Given the description of an element on the screen output the (x, y) to click on. 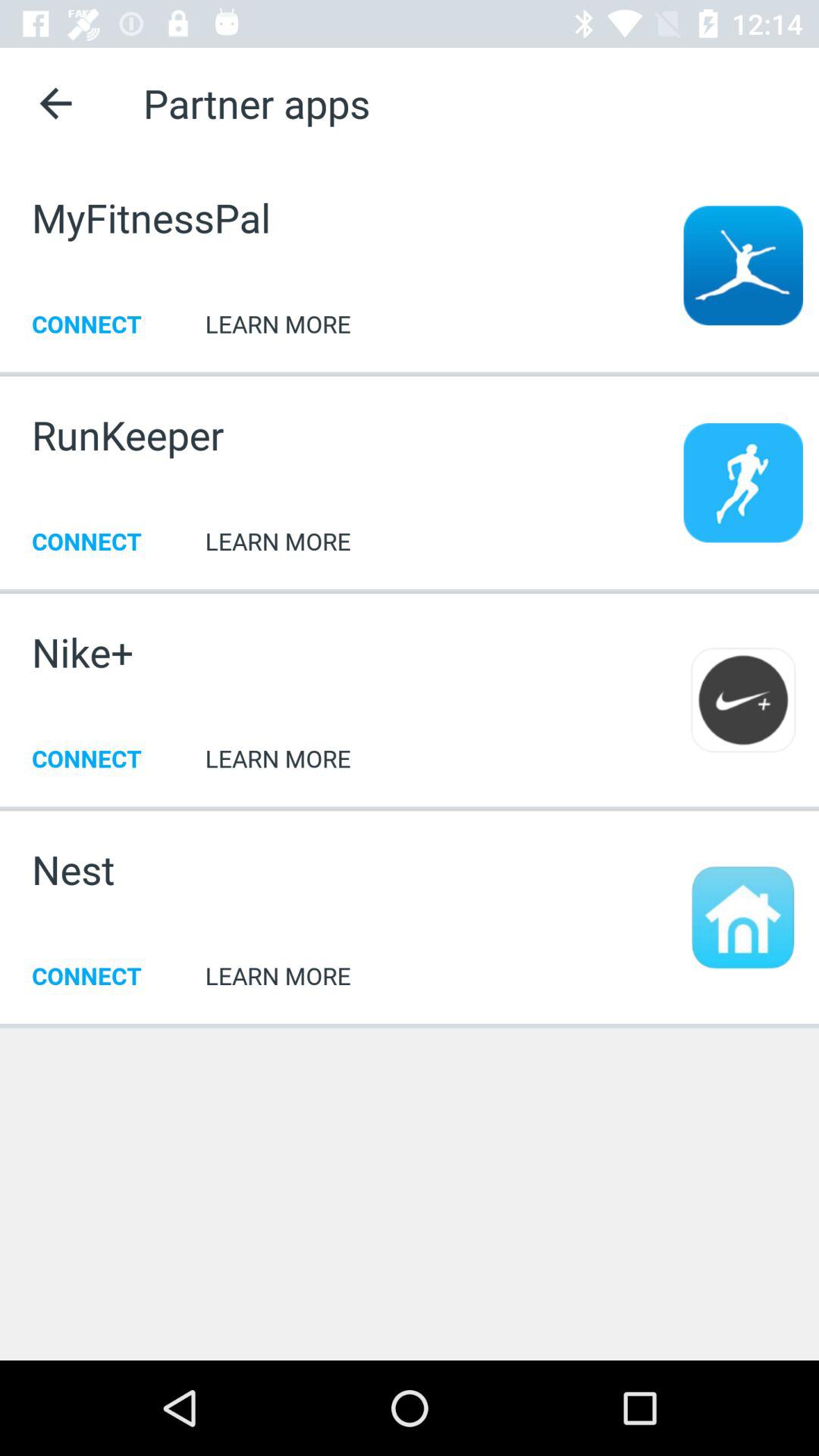
select item above connect icon (127, 434)
